Given the description of an element on the screen output the (x, y) to click on. 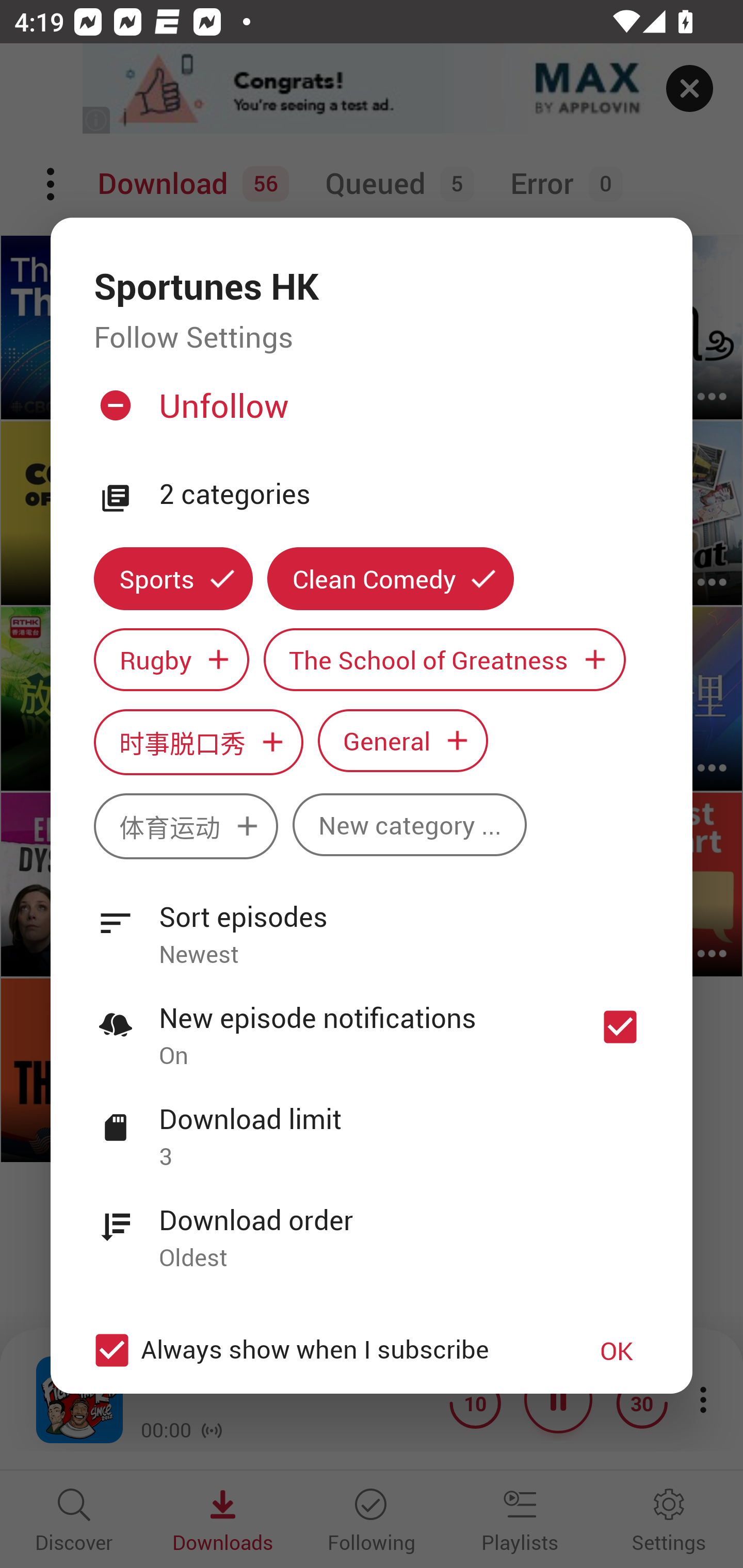
Unfollow (369, 413)
2 categories (404, 494)
Sports (172, 578)
Clean Comedy (390, 578)
Rugby (170, 659)
The School of Greatness (444, 659)
时事脱口秀 (198, 741)
General (403, 739)
体育运动 (185, 826)
New category ... (409, 824)
Sort episodes Newest (371, 924)
New episode notifications (620, 1026)
Download limit 3 (371, 1126)
Download order Oldest (371, 1227)
OK (616, 1350)
Always show when I subscribe (320, 1350)
